Given the description of an element on the screen output the (x, y) to click on. 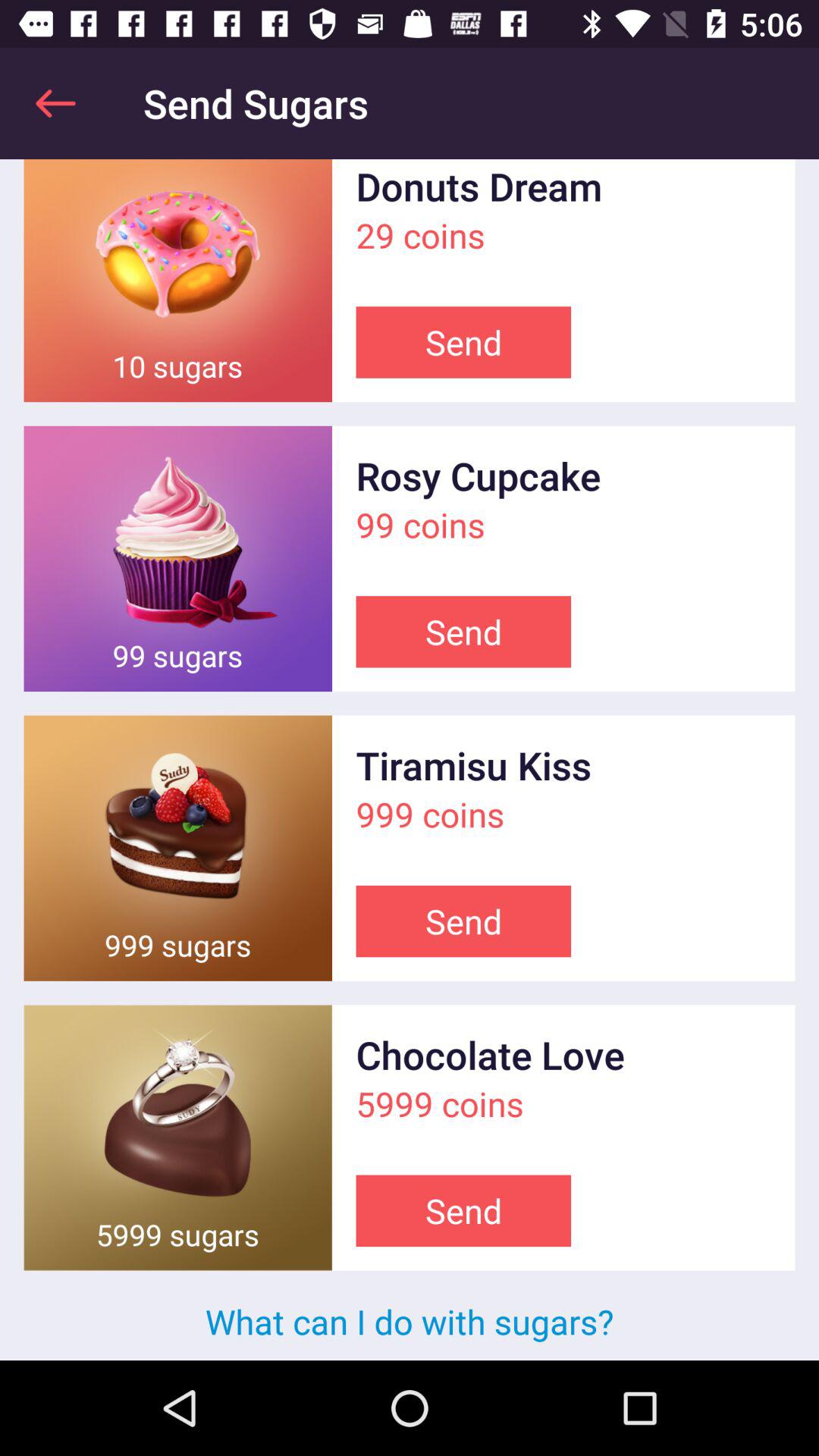
maximize the picture (177, 1137)
